Given the description of an element on the screen output the (x, y) to click on. 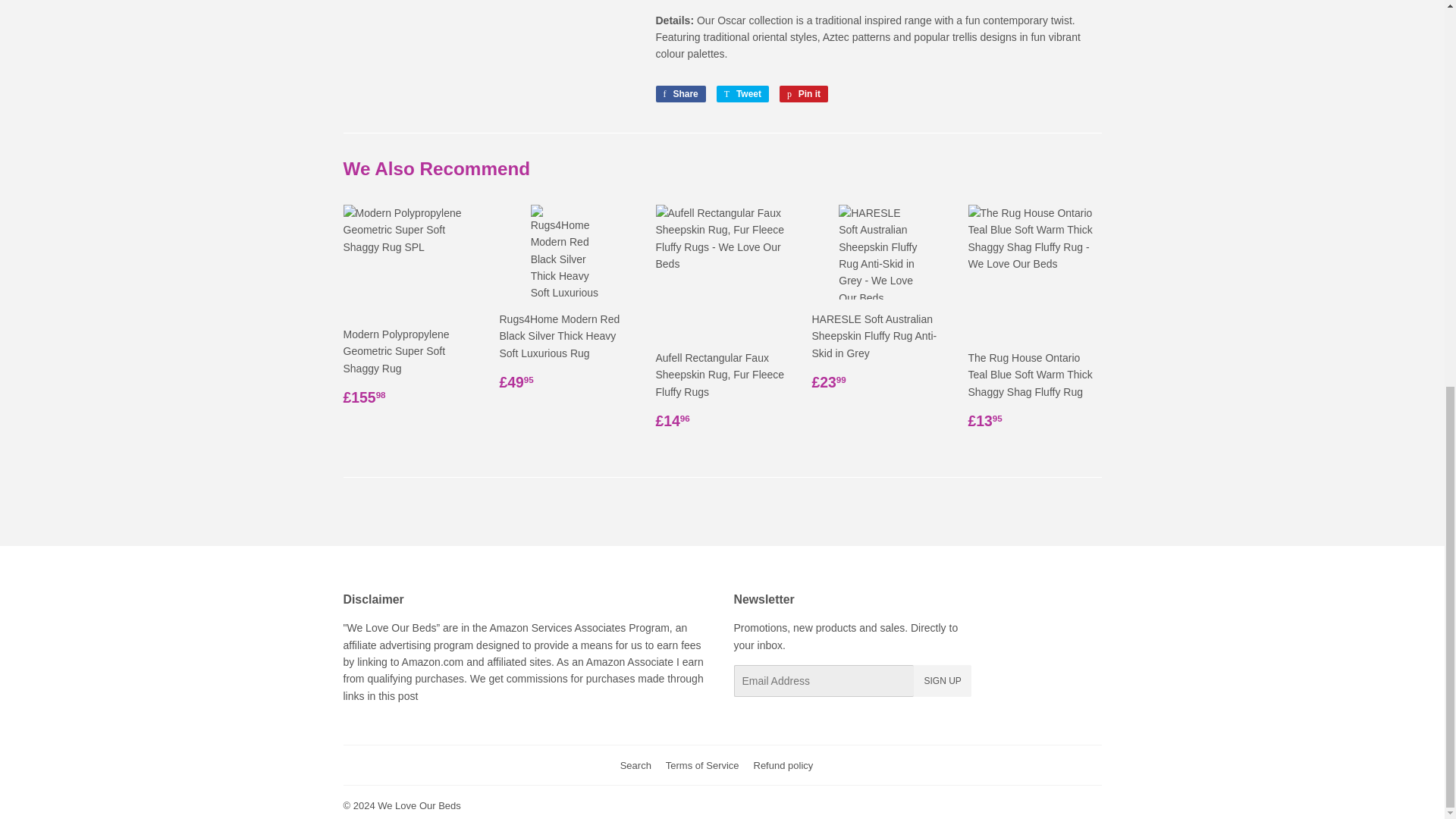
Search (742, 93)
Share on Facebook (679, 93)
Tweet on Twitter (635, 764)
Pin on Pinterest (803, 93)
SIGN UP (679, 93)
